Given the description of an element on the screen output the (x, y) to click on. 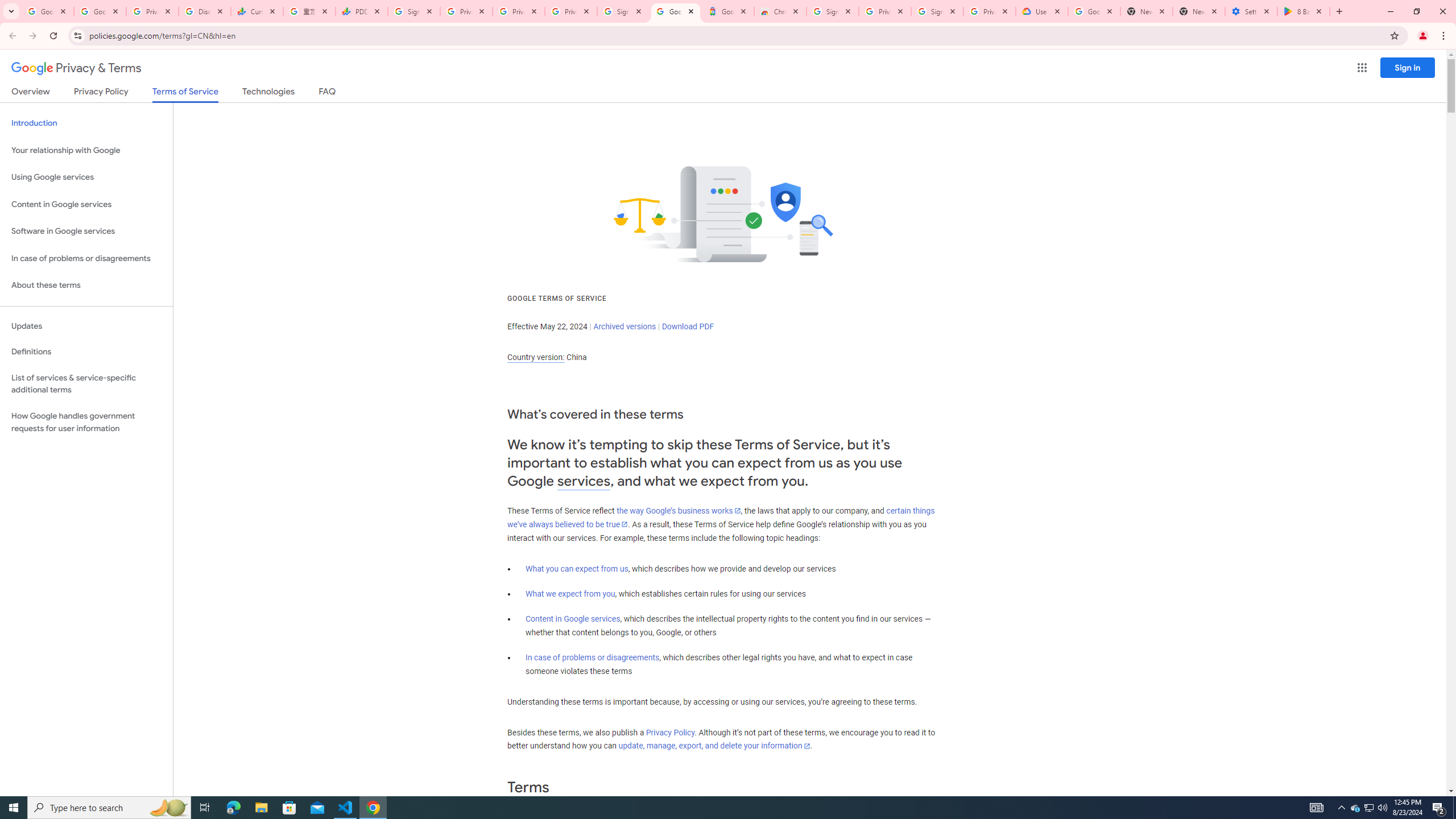
Content in Google services (572, 618)
Settings - System (1251, 11)
New Tab (1198, 11)
Software in Google services (86, 230)
Currencies - Google Finance (256, 11)
Sign in - Google Accounts (831, 11)
Sign in - Google Accounts (936, 11)
PDD Holdings Inc - ADR (PDD) Price & News - Google Finance (361, 11)
services (583, 480)
Archived versions (624, 326)
Chrome Web Store - Color themes by Chrome (779, 11)
Google Workspace Admin Community (47, 11)
